Given the description of an element on the screen output the (x, y) to click on. 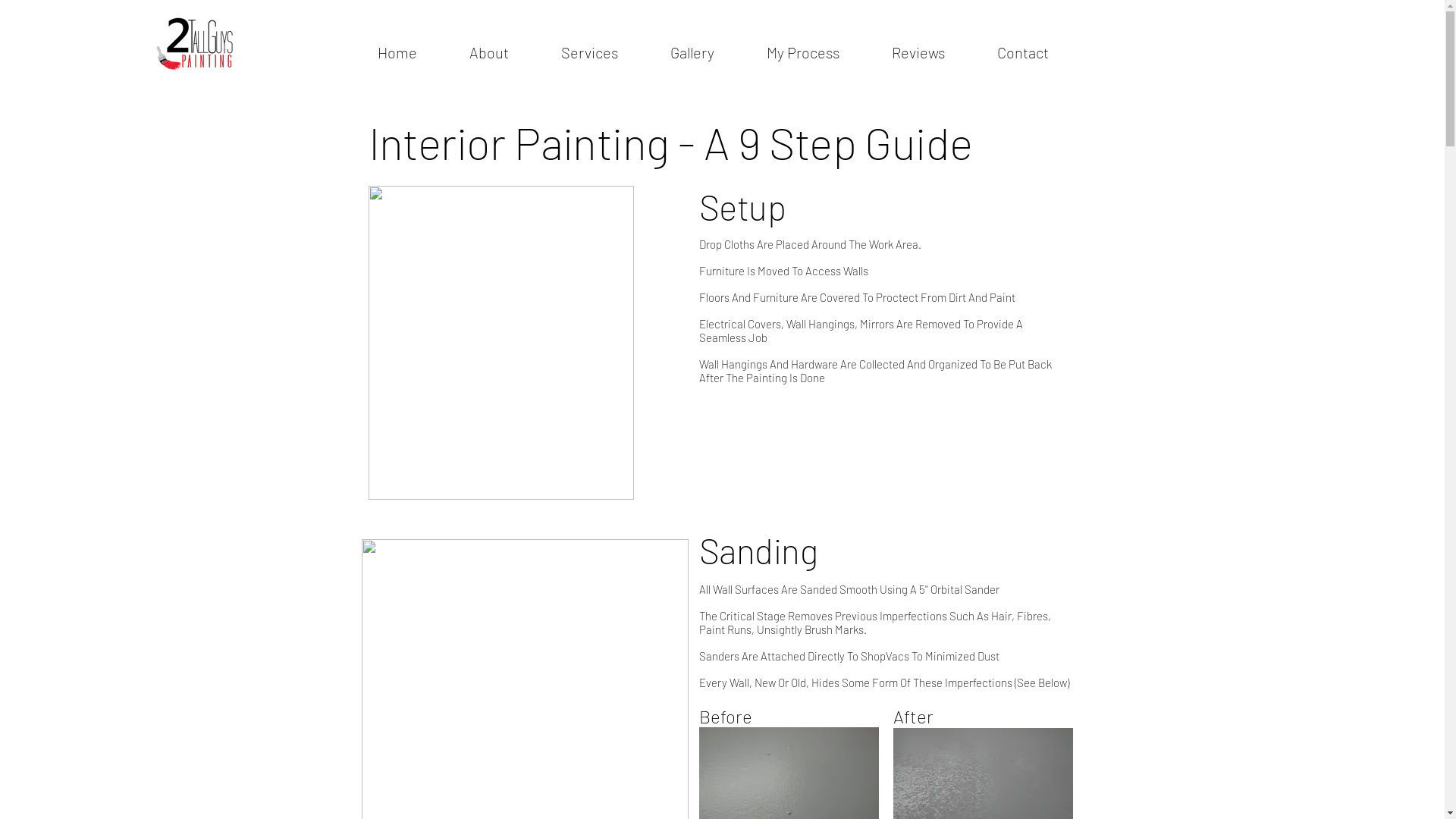
2-TALL-GUYS-painting-logo-web.png Element type: hover (194, 43)
Gallery Element type: text (692, 52)
Home Element type: text (396, 52)
About Element type: text (488, 52)
Contact Element type: text (1022, 52)
Services Element type: text (589, 52)
Reviews Element type: text (918, 52)
After Orbital_edited.JPG Element type: hover (500, 342)
